Given the description of an element on the screen output the (x, y) to click on. 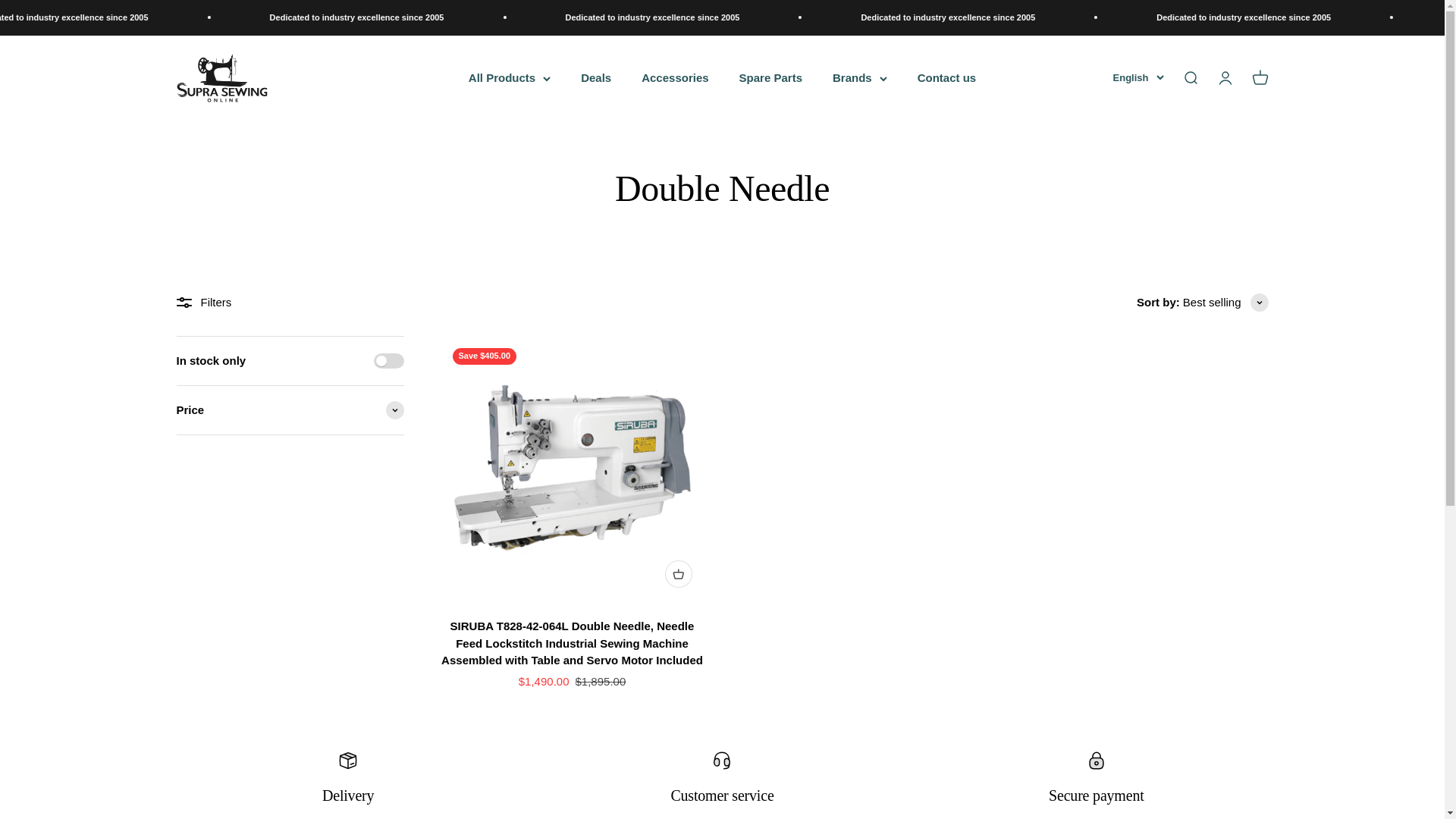
Supra Sewing Online, Llc (221, 78)
1 (387, 360)
Contact us (289, 384)
Open account page (946, 77)
Spare Parts (1224, 77)
Deals (770, 77)
Open search (595, 77)
English (1189, 77)
